Given the description of an element on the screen output the (x, y) to click on. 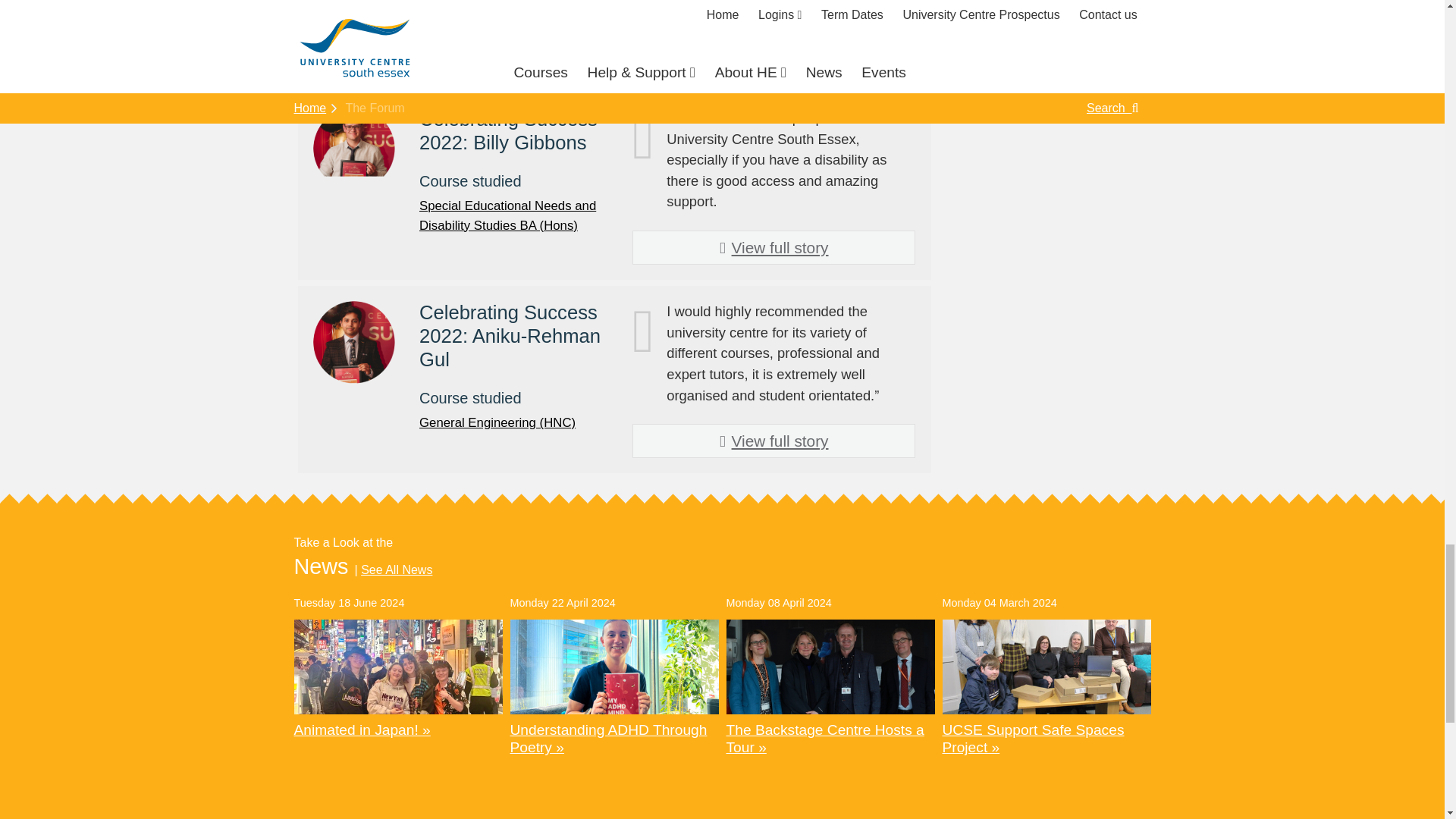
View course (497, 422)
View course (507, 215)
View course (497, 38)
